Given the description of an element on the screen output the (x, y) to click on. 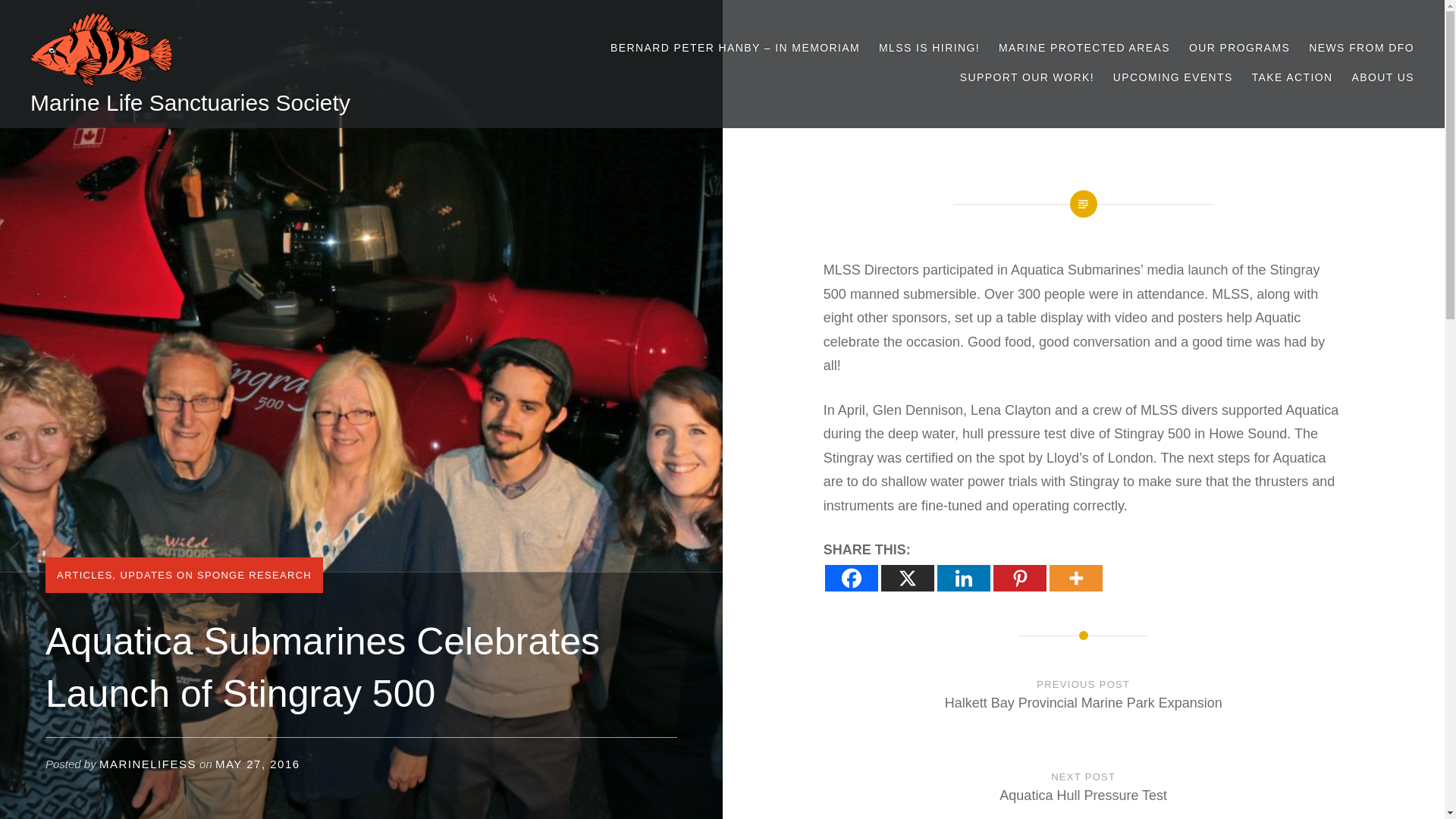
ABOUT US (1382, 76)
Pinterest (1019, 577)
MARINE PROTECTED AREAS (1084, 47)
Facebook (851, 577)
MLSS IS HIRING! (929, 47)
UPCOMING EVENTS (1173, 76)
TAKE ACTION (1292, 76)
OUR PROGRAMS (1239, 47)
X (907, 577)
NEWS FROM DFO (1360, 47)
Linkedin (963, 577)
SUPPORT OUR WORK! (1026, 76)
Marine Life Sanctuaries Society (190, 102)
More (1075, 577)
